Given the description of an element on the screen output the (x, y) to click on. 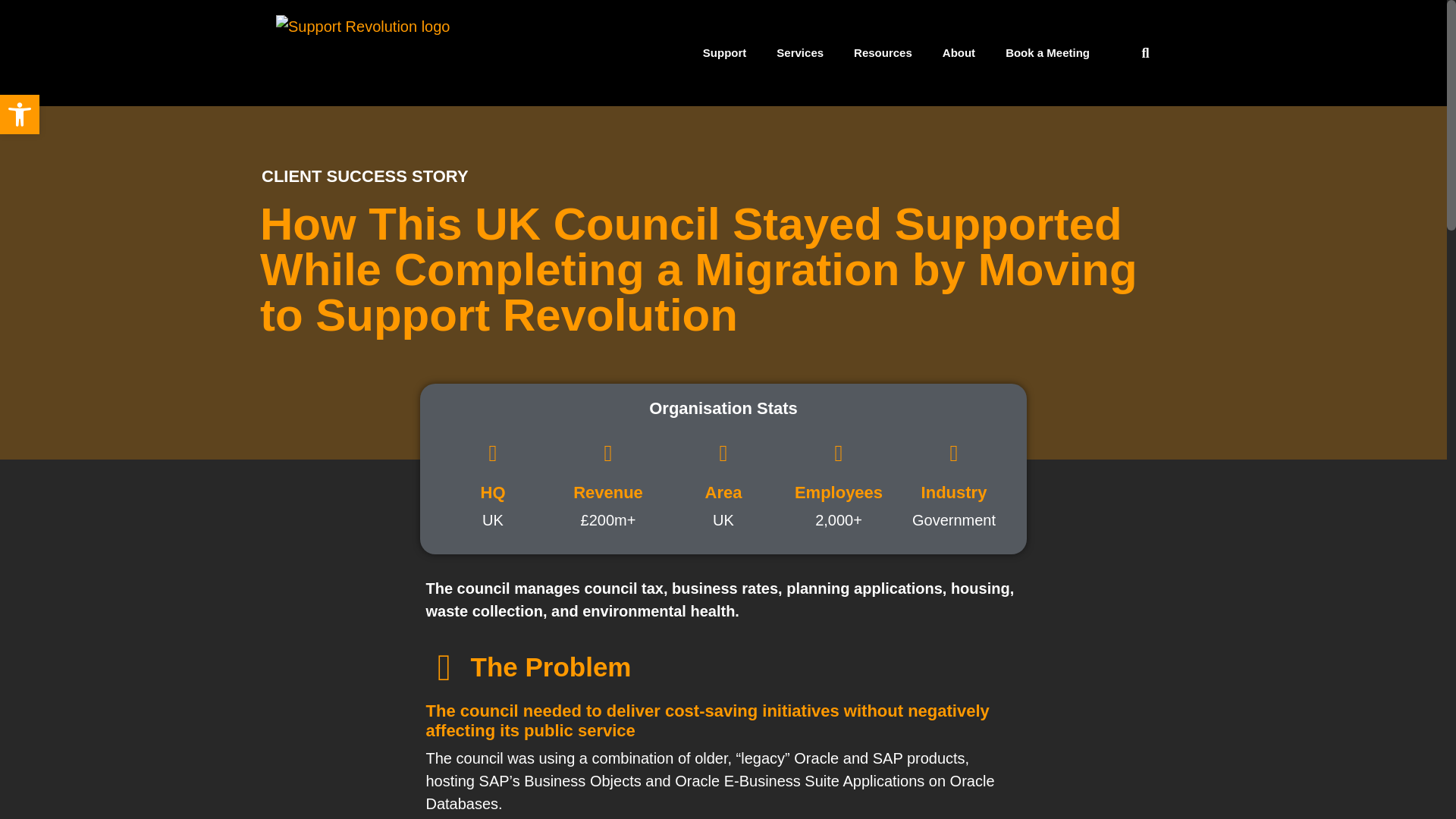
Resources (882, 53)
Services (799, 53)
Accessibility Tools (19, 114)
Accessibility Tools (19, 114)
Book a Meeting (1047, 53)
Support (724, 53)
About (958, 53)
